Given the description of an element on the screen output the (x, y) to click on. 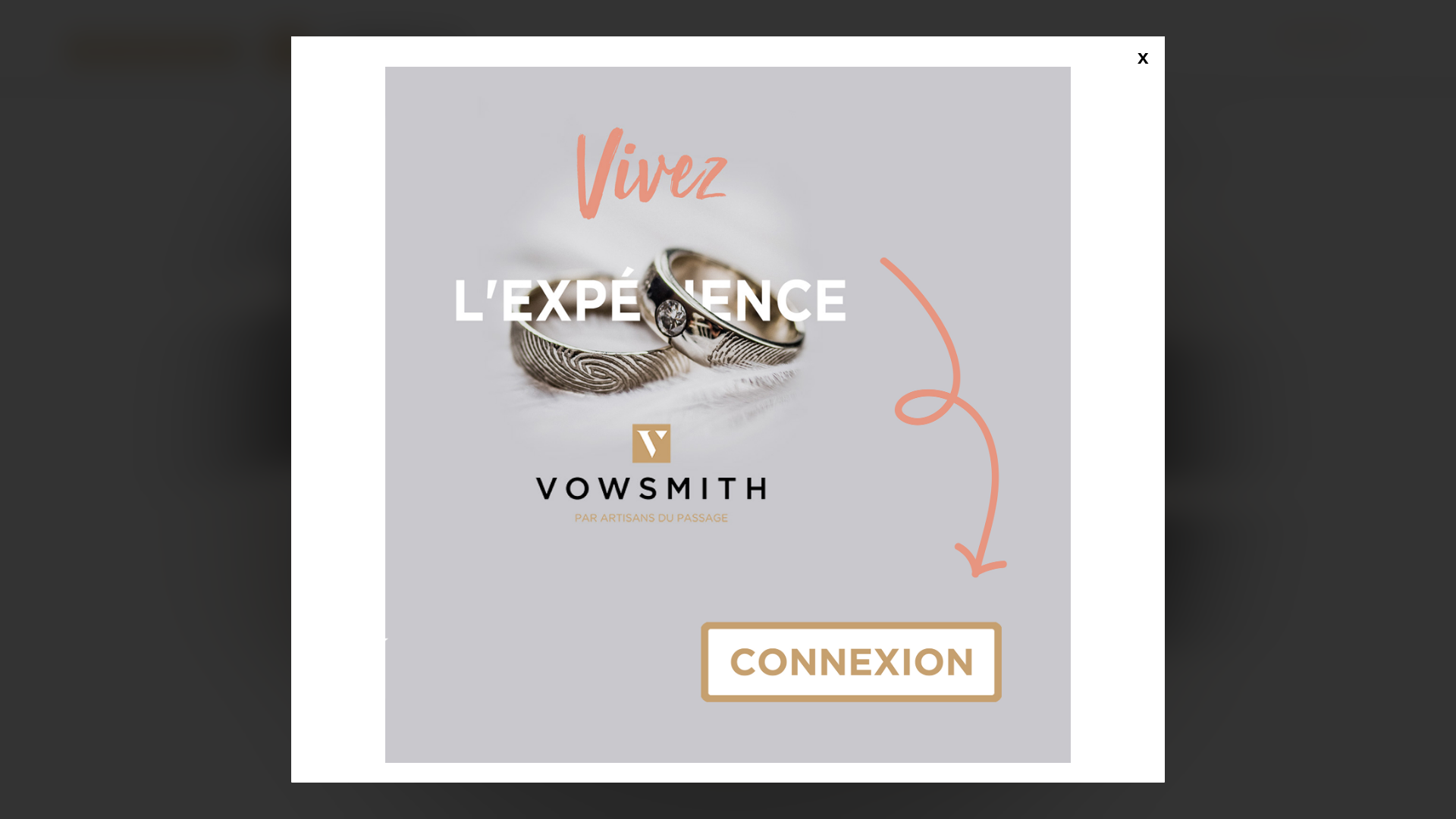
Vowsmith Element type: hover (158, 48)
Vowsmith Element type: hover (372, 48)
x Element type: text (1142, 58)
Connexion Element type: text (1314, 35)
